Given the description of an element on the screen output the (x, y) to click on. 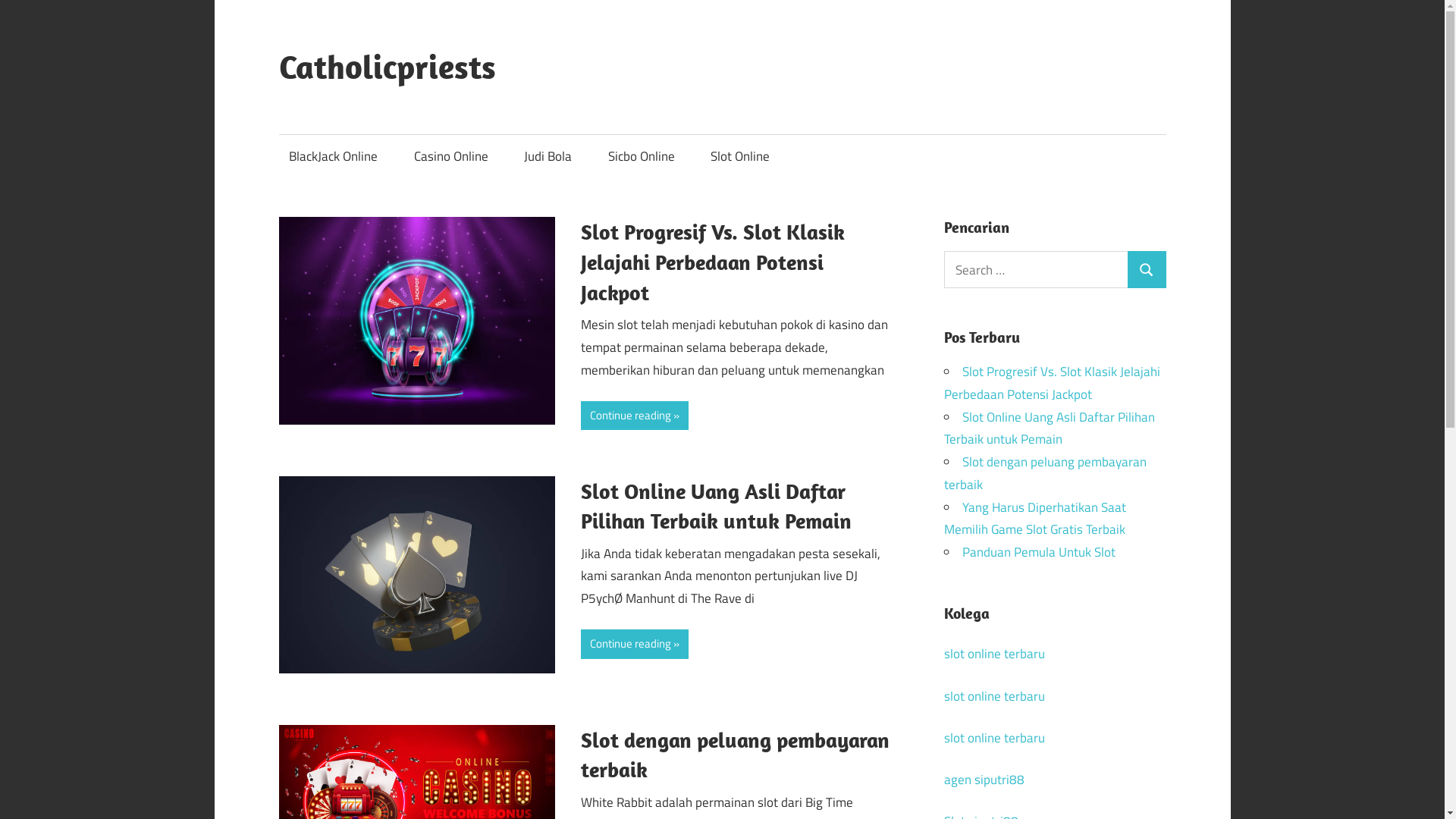
Judi Bola Element type: text (548, 156)
Continue reading Element type: text (634, 643)
Slot dengan peluang pembayaran terbaik Element type: text (1045, 472)
slot online terbaru Element type: text (994, 737)
slot online terbaru Element type: text (994, 653)
Search for: Element type: hover (1036, 269)
BlackJack Online Element type: text (333, 156)
Casino Online Element type: text (450, 156)
Sicbo Online Element type: text (640, 156)
Catholicpriests Element type: text (387, 66)
Slot Online Element type: text (740, 156)
Search Element type: text (1146, 269)
slot online terbaru Element type: text (994, 696)
Slot Online Uang Asli Daftar Pilihan Terbaik untuk Pemain Element type: text (1049, 428)
Continue reading Element type: text (634, 415)
Slot Online Uang Asli Daftar Pilihan Terbaik untuk Pemain Element type: text (715, 505)
agen siputri88 Element type: text (984, 779)
Panduan Pemula Untuk Slot Element type: text (1038, 551)
Slot dengan peluang pembayaran terbaik Element type: text (734, 754)
